Given the description of an element on the screen output the (x, y) to click on. 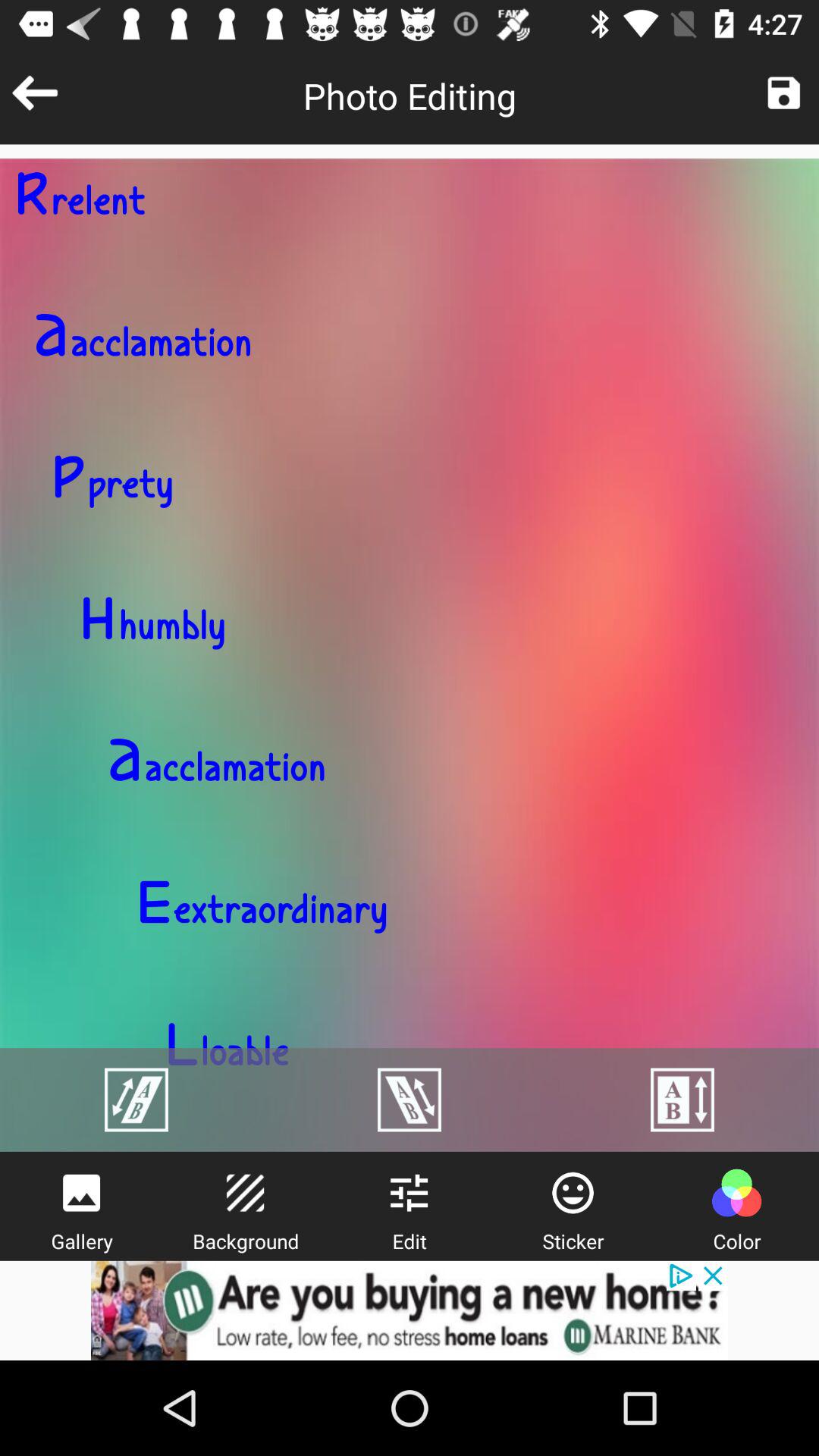
change background (245, 1192)
